Given the description of an element on the screen output the (x, y) to click on. 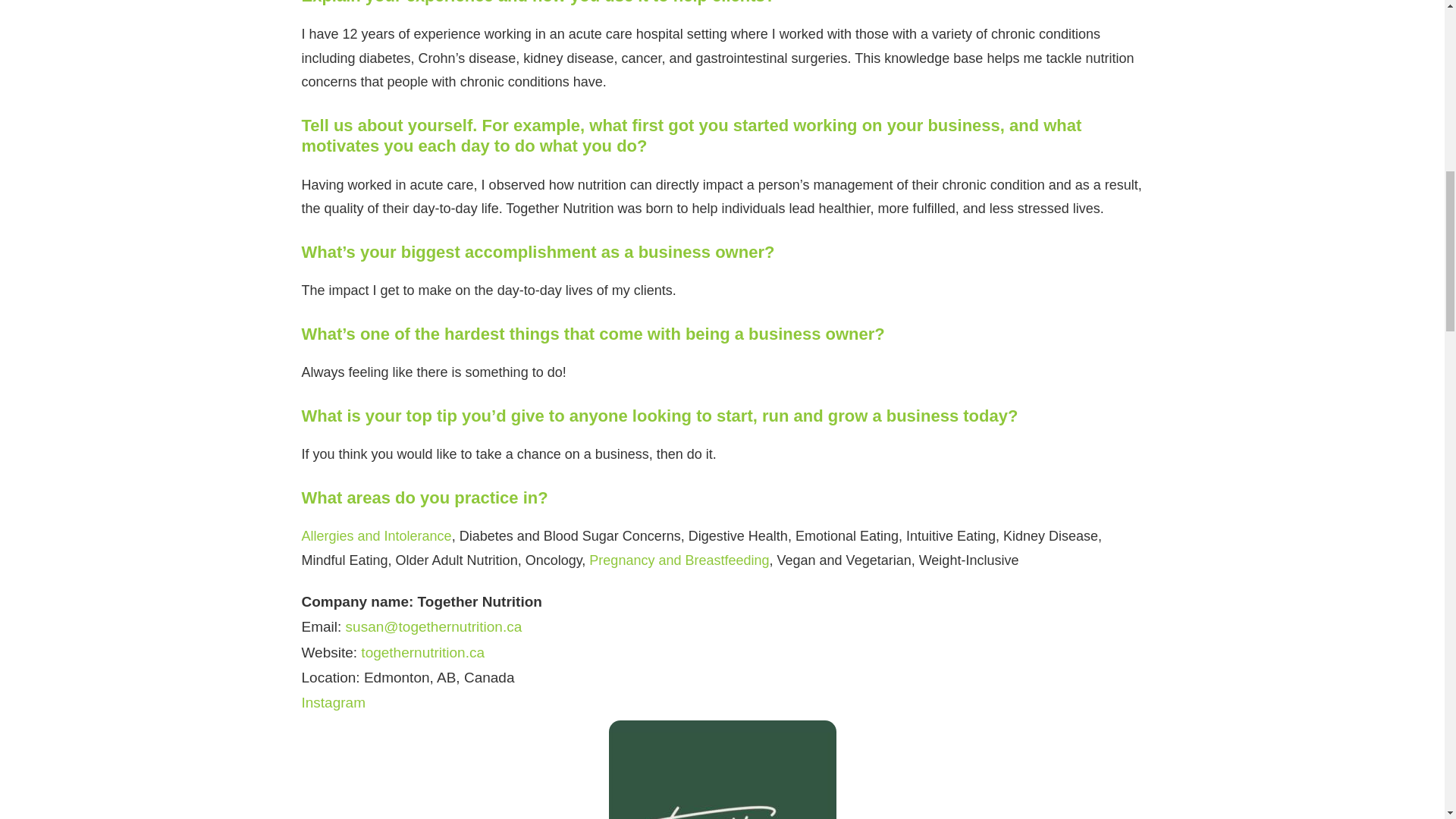
Allergies and Intolerance (376, 535)
Pregnancy and Breastfeeding (678, 560)
togethernutrition.ca (422, 652)
Instagram (333, 702)
